Given the description of an element on the screen output the (x, y) to click on. 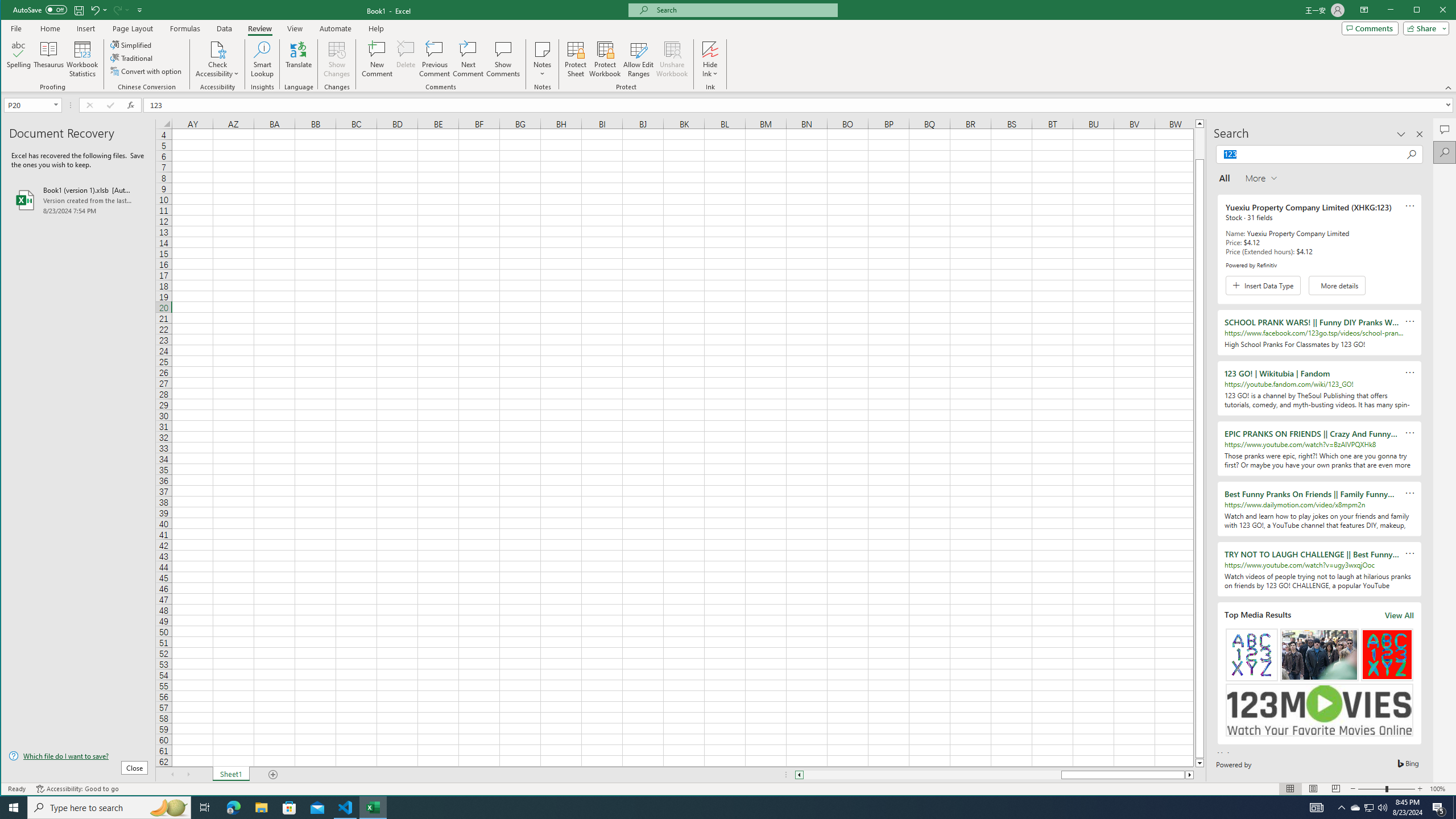
Next Comment (467, 59)
Insert (85, 28)
Unshare Workbook (671, 59)
Line up (1199, 122)
AutoSave (39, 9)
Translate (298, 59)
Data (224, 28)
Name Box (27, 104)
Add Sheet (272, 774)
View (294, 28)
File Tab (16, 27)
Workbook Statistics (82, 59)
Action Center, 5 new notifications (1439, 807)
Q2790: 100% (1382, 807)
